Given the description of an element on the screen output the (x, y) to click on. 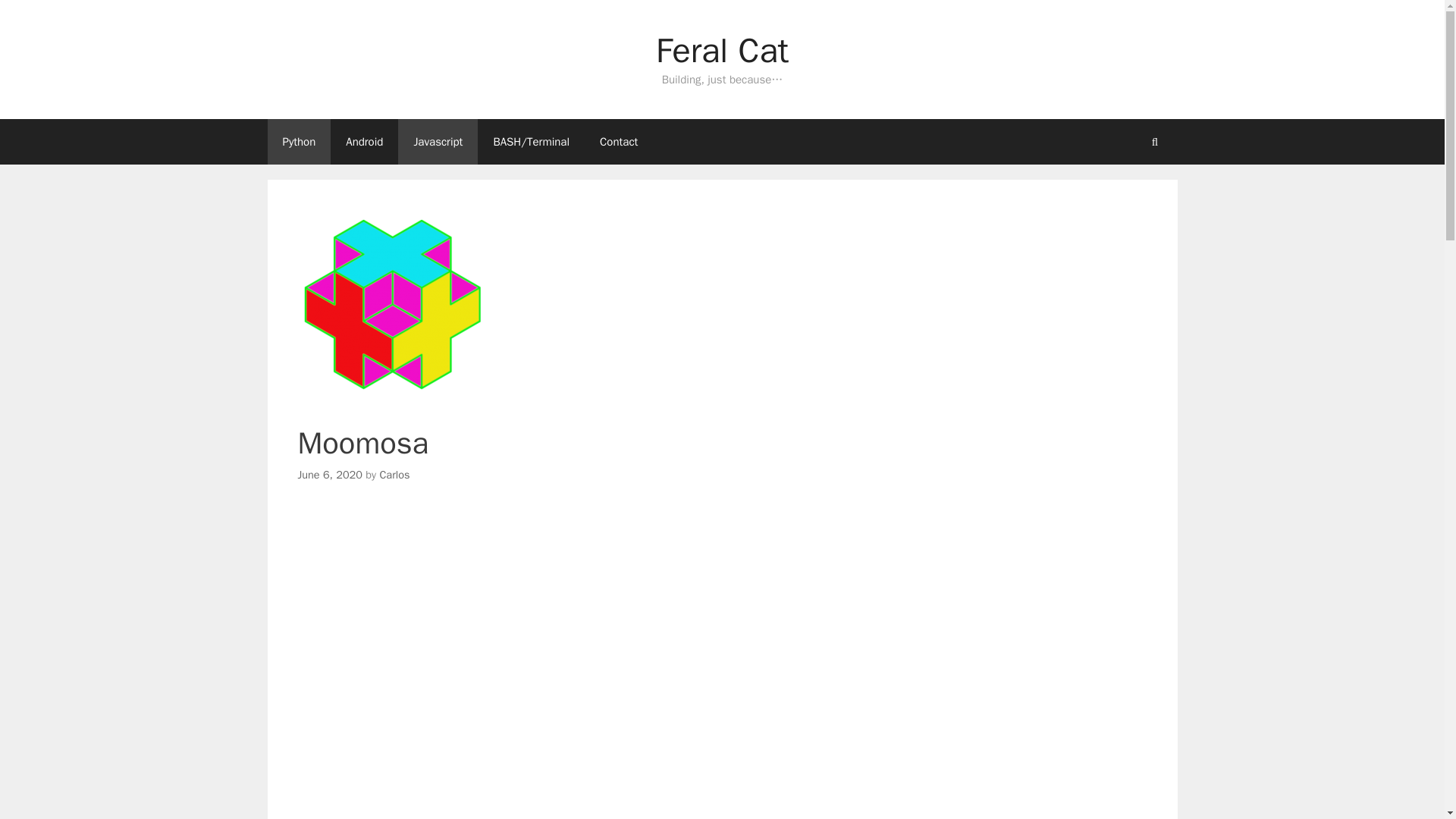
Search (1154, 140)
7:02 pm (329, 474)
Carlos (393, 474)
Feral Cat (722, 50)
Search (1154, 140)
June 6, 2020 (329, 474)
Android (363, 140)
View all posts by Carlos (393, 474)
Javascript (437, 140)
Python (298, 140)
Contact (618, 140)
